Given the description of an element on the screen output the (x, y) to click on. 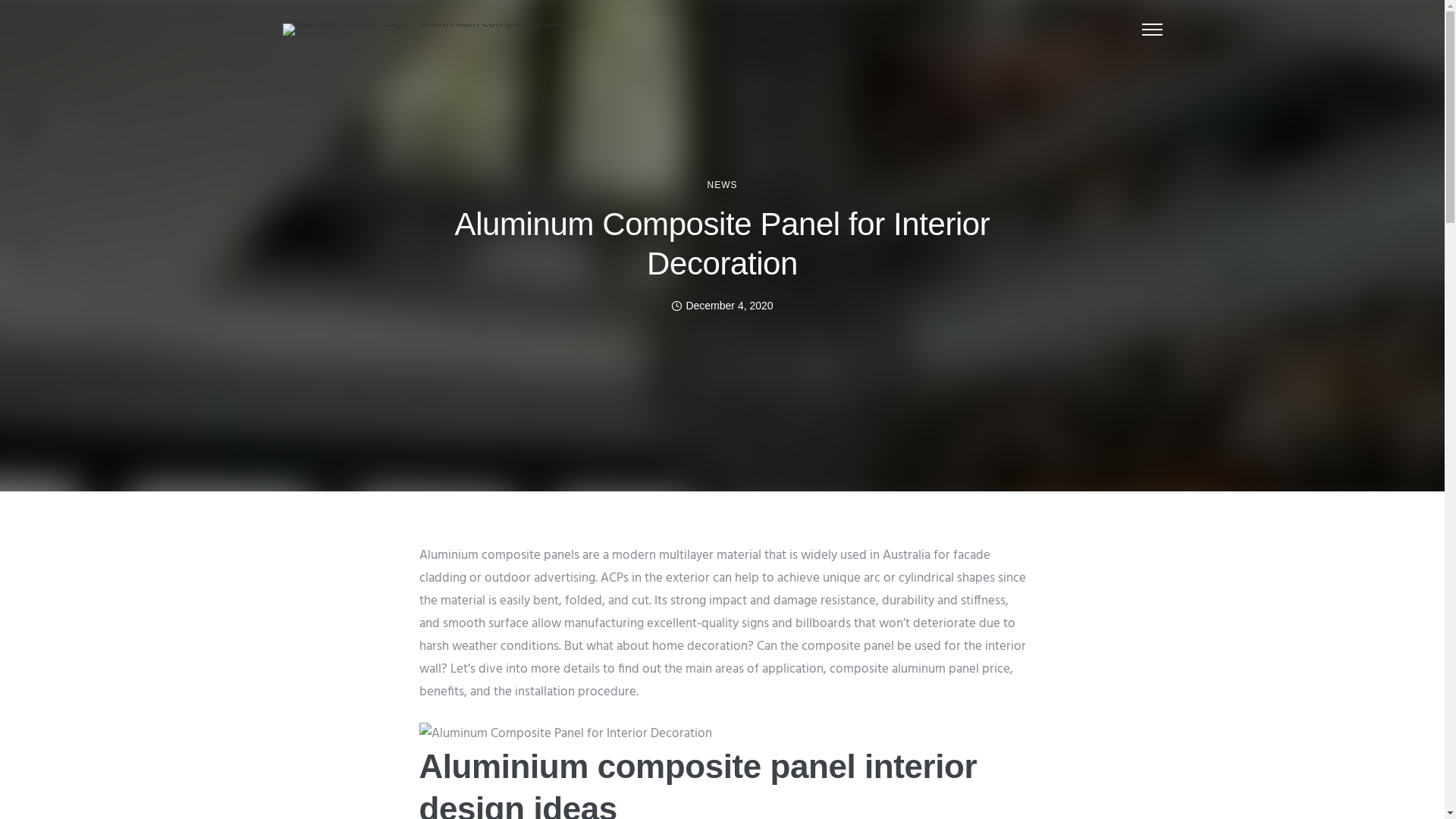
December 4, 2020 Element type: text (721, 305)
NEWS Element type: text (721, 184)
